Given the description of an element on the screen output the (x, y) to click on. 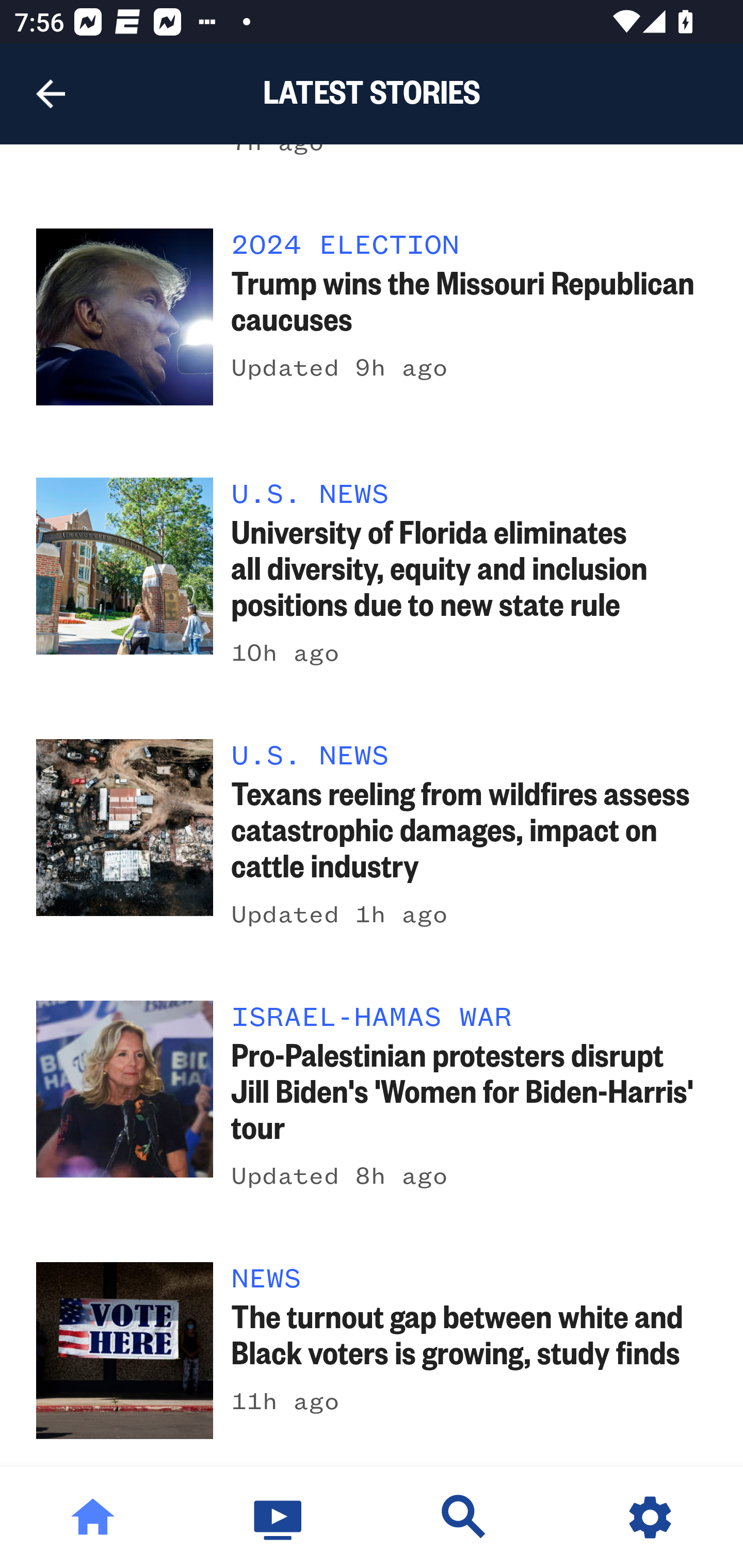
Navigate up (50, 93)
Watch (278, 1517)
Discover (464, 1517)
Settings (650, 1517)
